Given the description of an element on the screen output the (x, y) to click on. 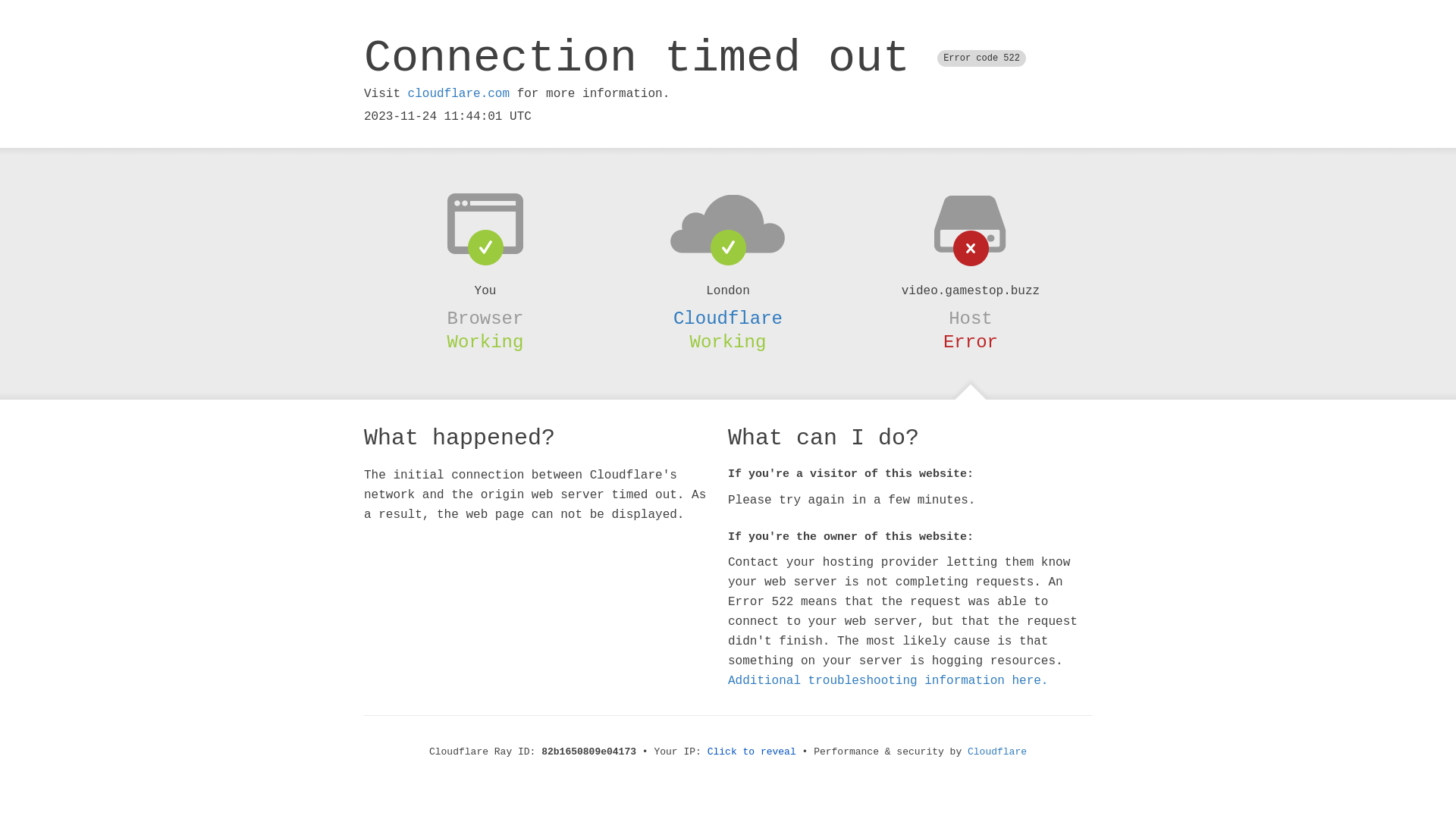
Cloudflare Element type: text (727, 318)
cloudflare.com Element type: text (458, 93)
Cloudflare Element type: text (996, 751)
Additional troubleshooting information here. Element type: text (888, 680)
Click to reveal Element type: text (751, 751)
